Given the description of an element on the screen output the (x, y) to click on. 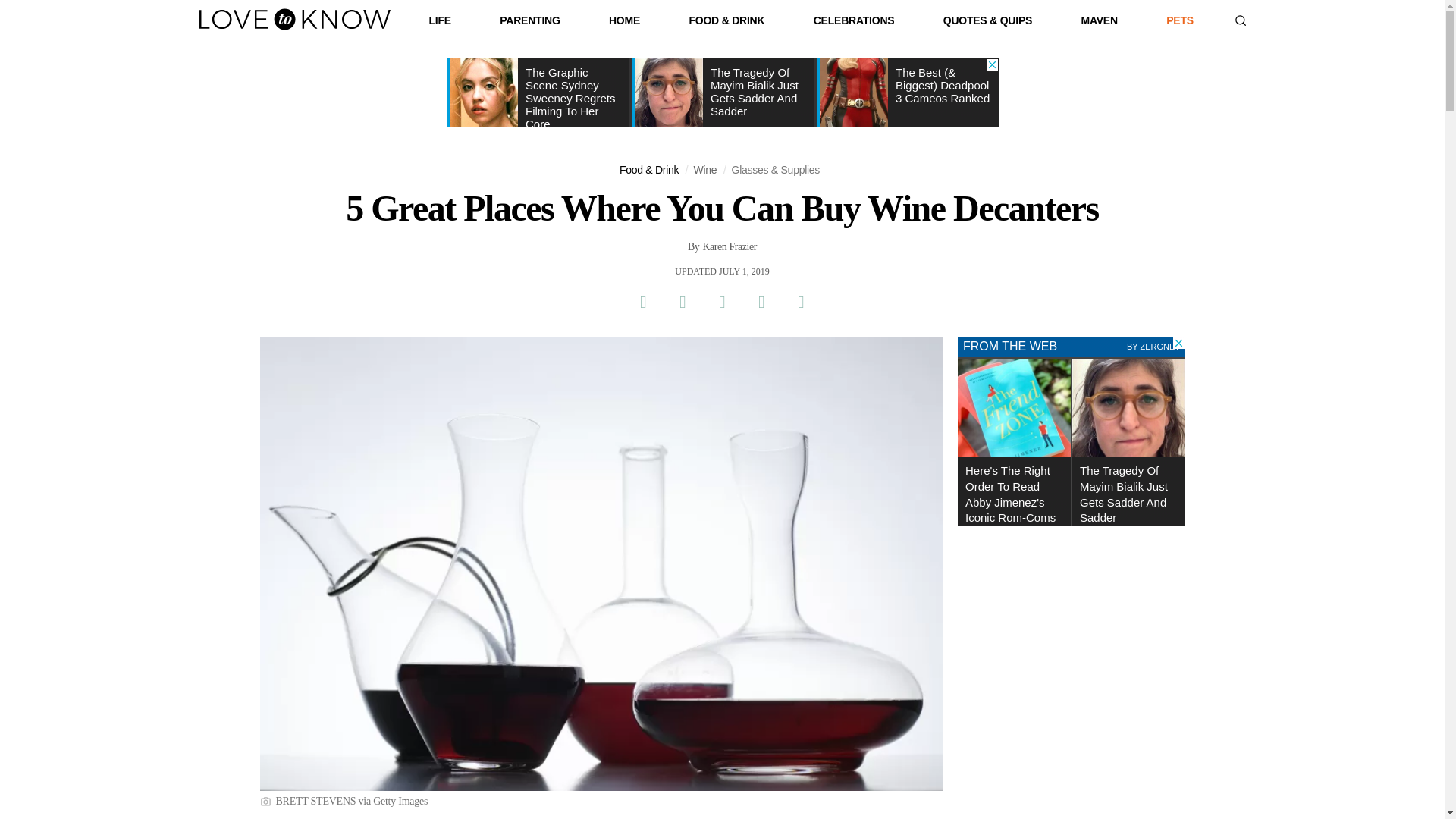
Karen Frazier (729, 247)
Share via Email (760, 301)
Share on Facebook (642, 301)
Copy Link (800, 301)
LIFE (439, 23)
HOME (624, 23)
Share on Twitter (681, 301)
PARENTING (529, 23)
Share on Pinterest (721, 301)
3rd party ad content (721, 92)
